Given the description of an element on the screen output the (x, y) to click on. 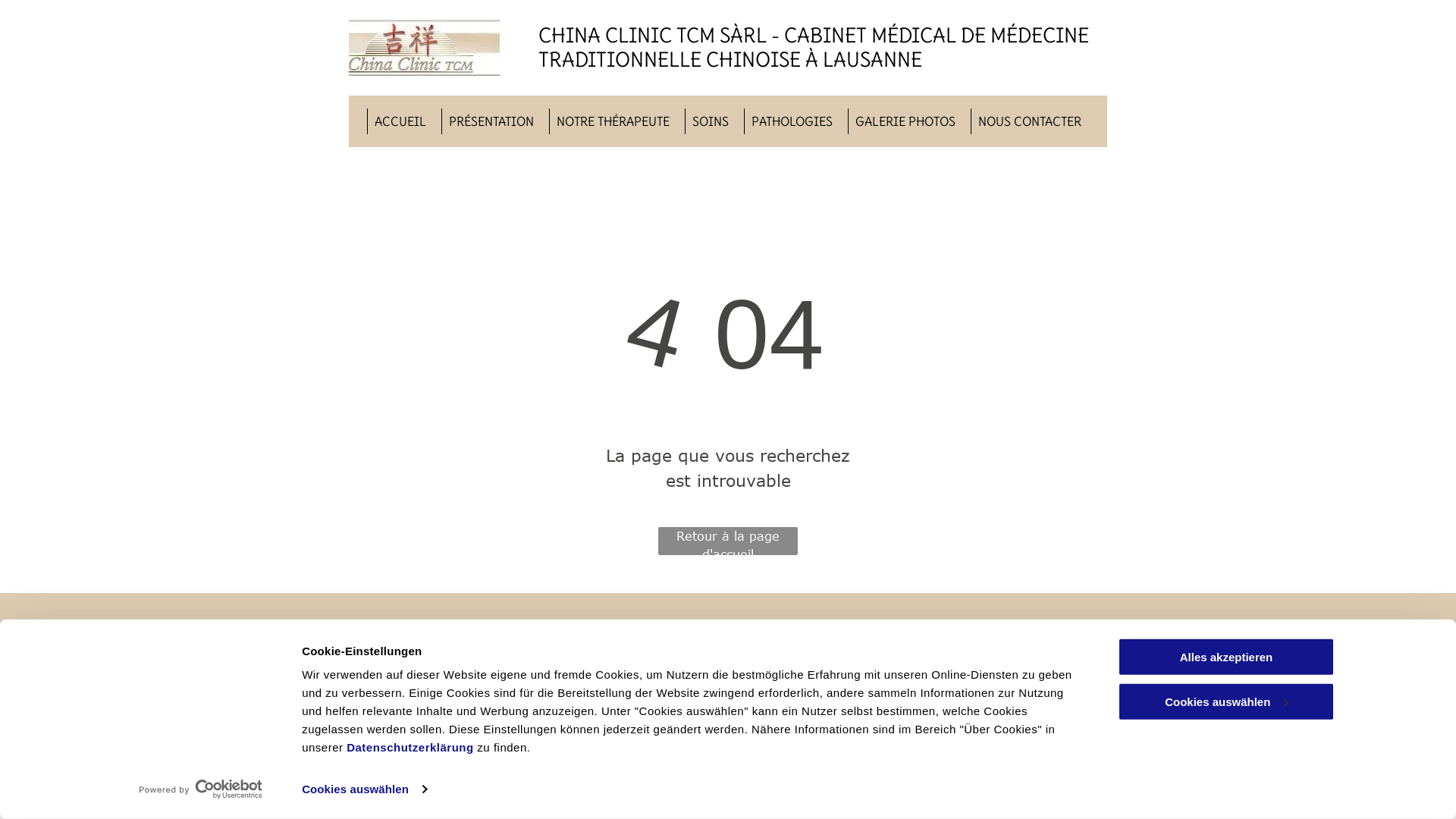
fb:like Facebook Social Plugin Element type: hover (394, 657)
PATHOLOGIES Element type: text (792, 121)
ACCUEIL Element type: text (400, 121)
021 311 89 89 Element type: text (711, 716)
SOINS Element type: text (710, 121)
Alles akzeptieren Element type: text (1225, 656)
NOUS CONTACTER Element type: text (1029, 121)
GALERIE PHOTOS Element type: text (905, 121)
